Given the description of an element on the screen output the (x, y) to click on. 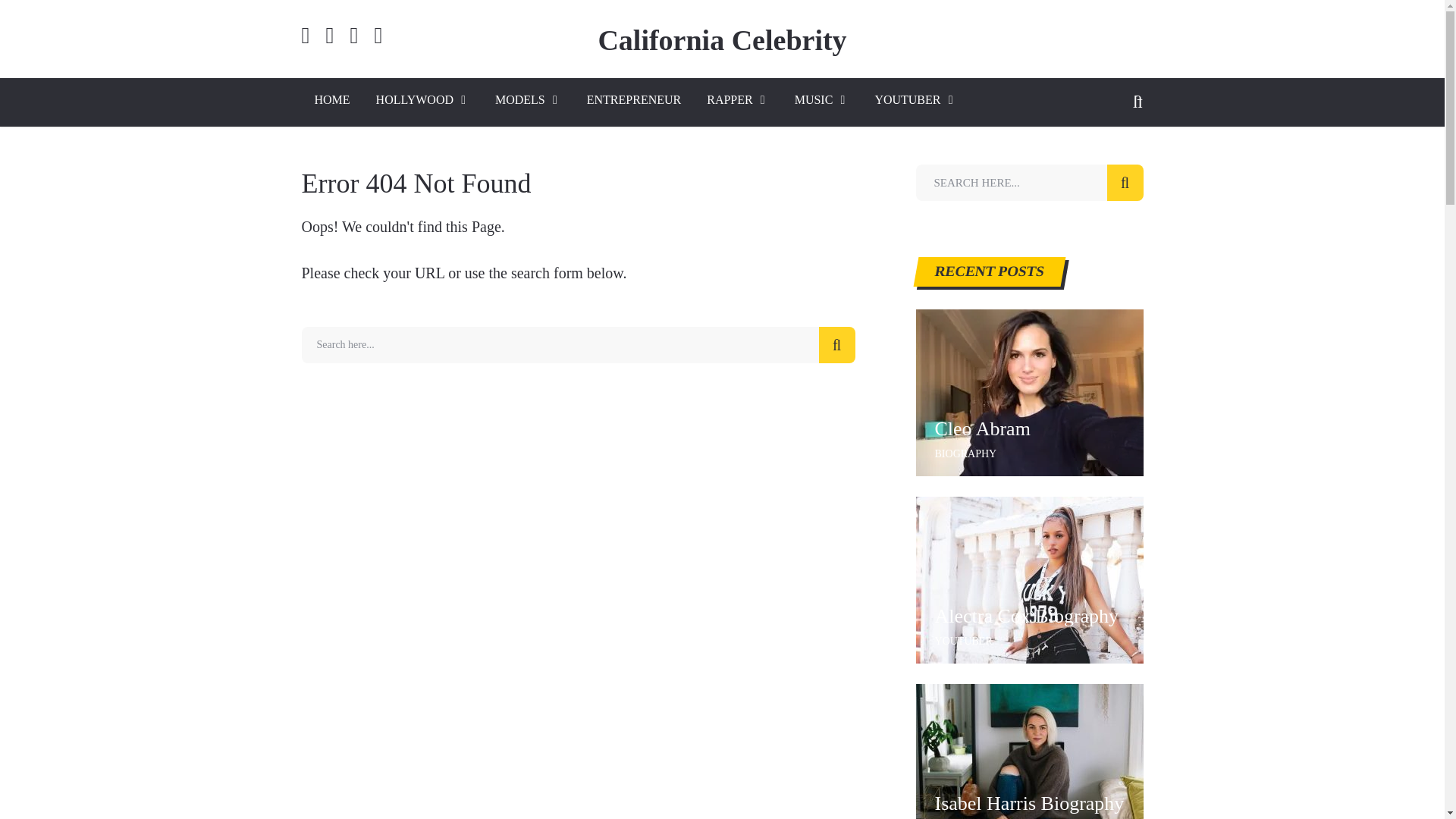
Alectra Cox Biography (1029, 616)
HOLLYWOOD (421, 101)
Cleo Abram (1029, 429)
Cleo Abram (1028, 392)
Isabel Harris Biography (1029, 803)
ENTREPRENEUR (633, 101)
RAPPER (737, 101)
MUSIC (821, 101)
View all posts in Biography (965, 453)
Alectra Cox Biography (1028, 579)
